Given the description of an element on the screen output the (x, y) to click on. 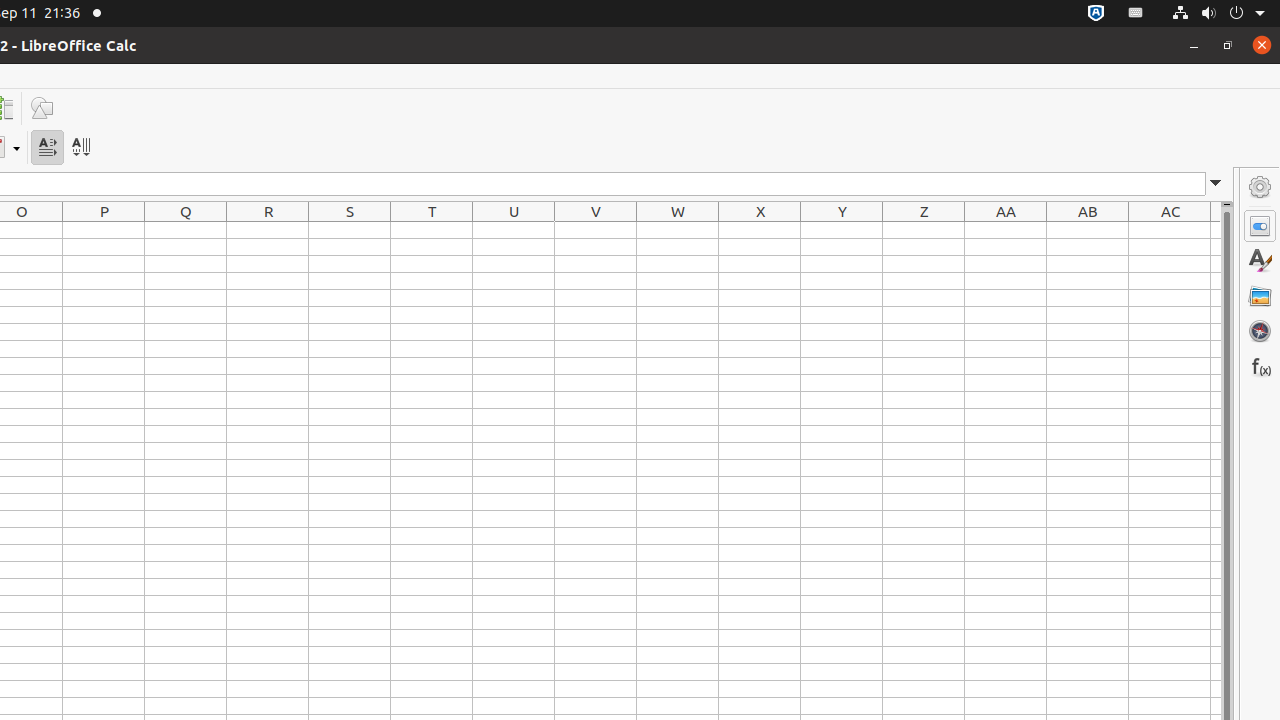
AD1 Element type: table-cell (1216, 230)
Gallery Element type: radio-button (1260, 296)
AC1 Element type: table-cell (1170, 230)
AA1 Element type: table-cell (1006, 230)
S1 Element type: table-cell (350, 230)
